Given the description of an element on the screen output the (x, y) to click on. 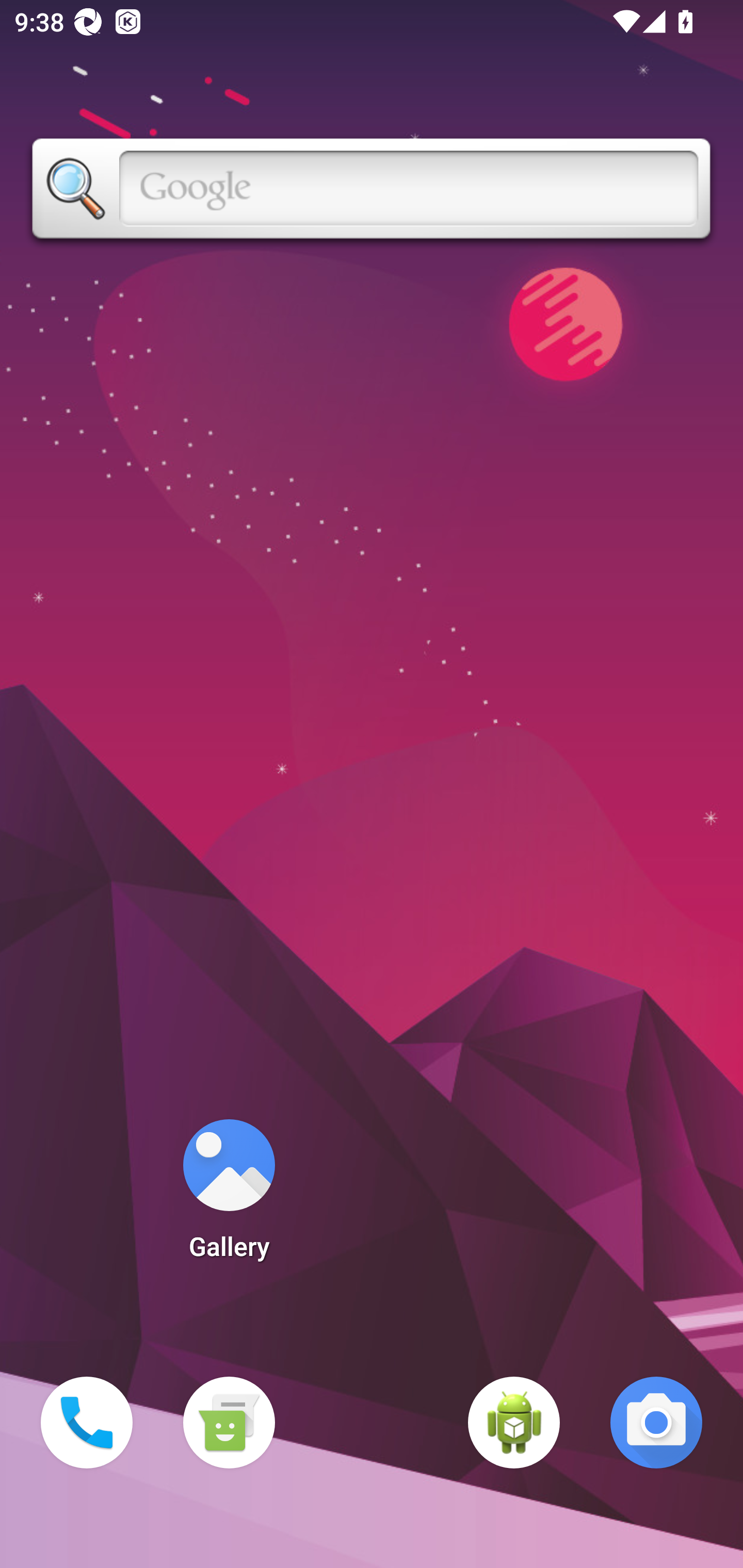
Gallery (228, 1195)
Phone (86, 1422)
Messaging (228, 1422)
WebView Browser Tester (513, 1422)
Camera (656, 1422)
